Given the description of an element on the screen output the (x, y) to click on. 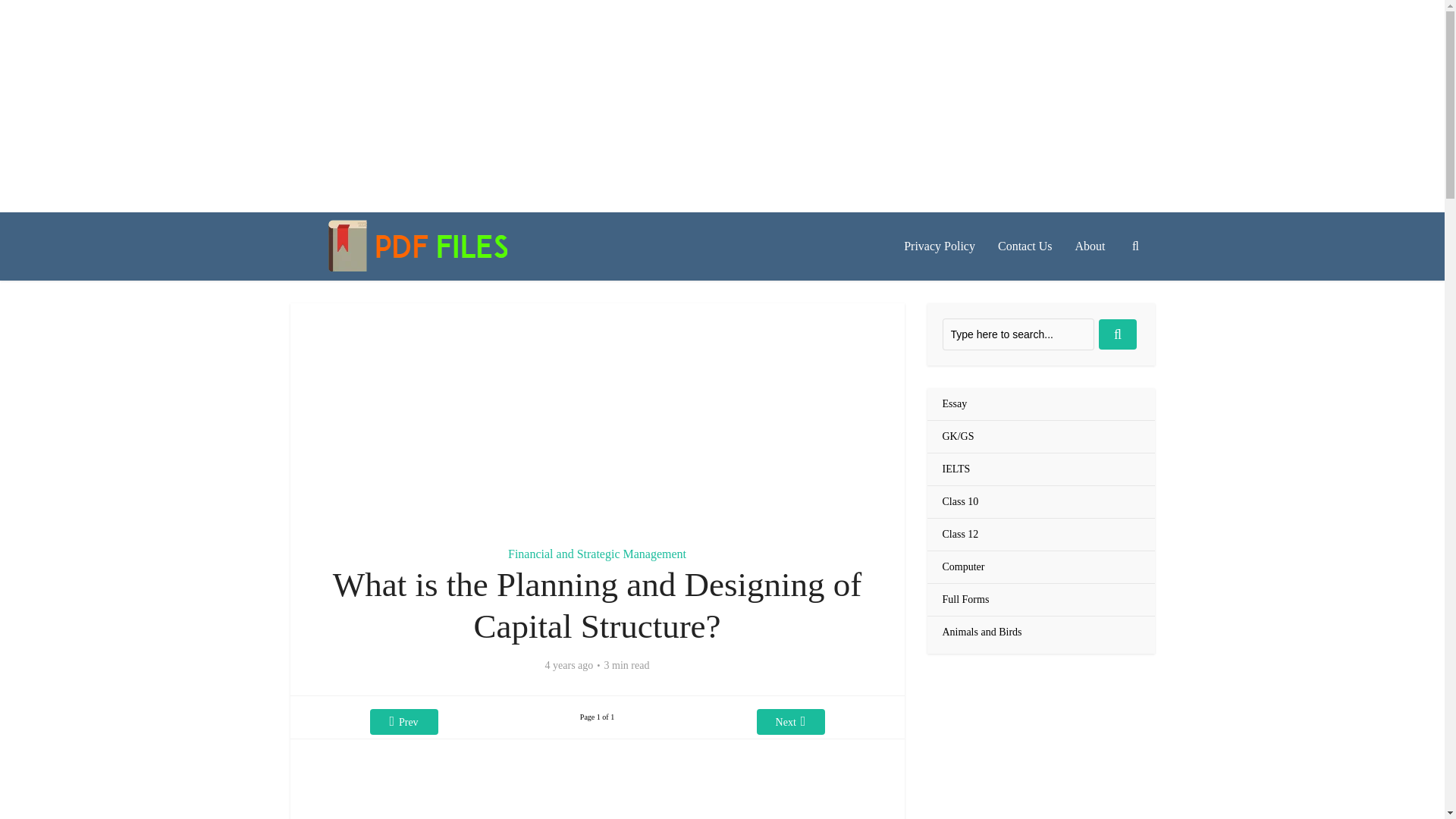
Computer (962, 567)
IELTS (955, 469)
Contact Us (1025, 246)
Class 10 (959, 501)
Type here to search... (1017, 334)
Class 12 (959, 534)
Type here to search... (1017, 334)
Advertisement (596, 415)
Privacy Policy (939, 246)
